Given the description of an element on the screen output the (x, y) to click on. 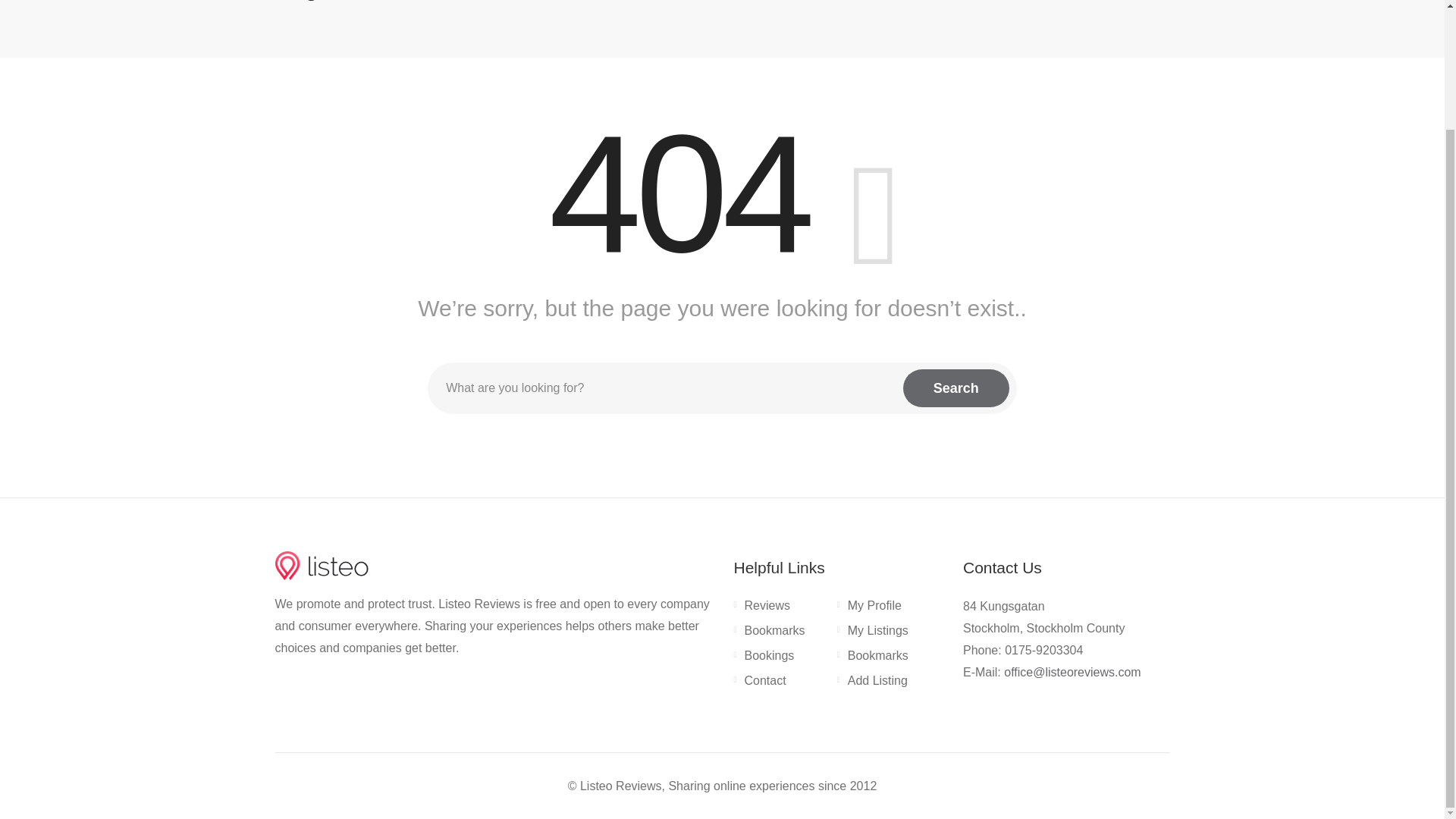
Add Listing (872, 683)
My Profile (869, 608)
Bookmarks (872, 658)
My Listings (872, 633)
Contact (759, 683)
Reviews (761, 608)
Bookmarks (769, 633)
Bookings (763, 658)
Search (955, 388)
